Given the description of an element on the screen output the (x, y) to click on. 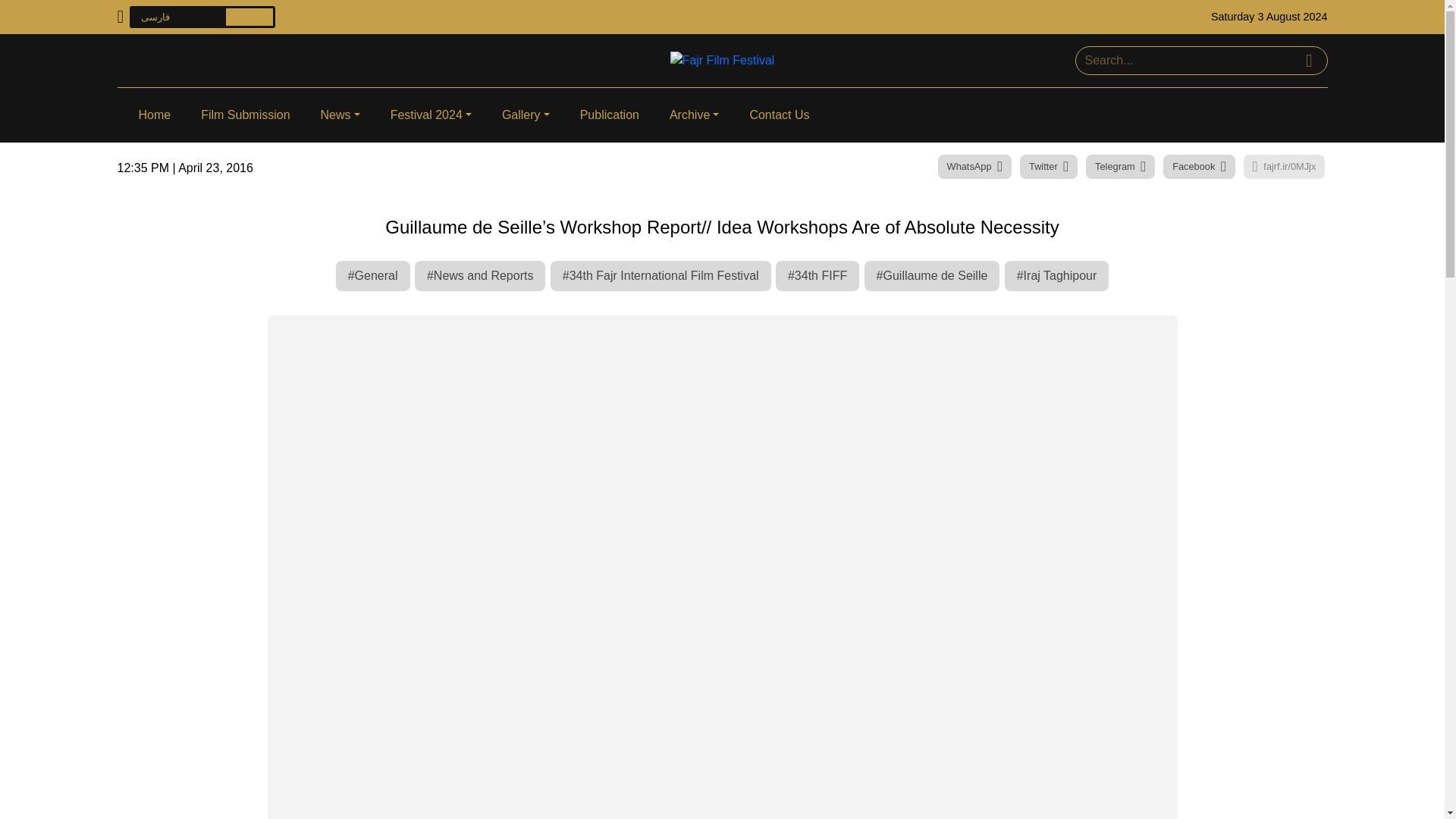
Guillaume de Seille (932, 276)
Home (154, 114)
Archive (694, 114)
News and Reports (480, 276)
English (202, 16)
English (202, 16)
Facebook (1198, 166)
Share on WhatsApp (974, 166)
General (373, 276)
WhatsApp (974, 166)
